Given the description of an element on the screen output the (x, y) to click on. 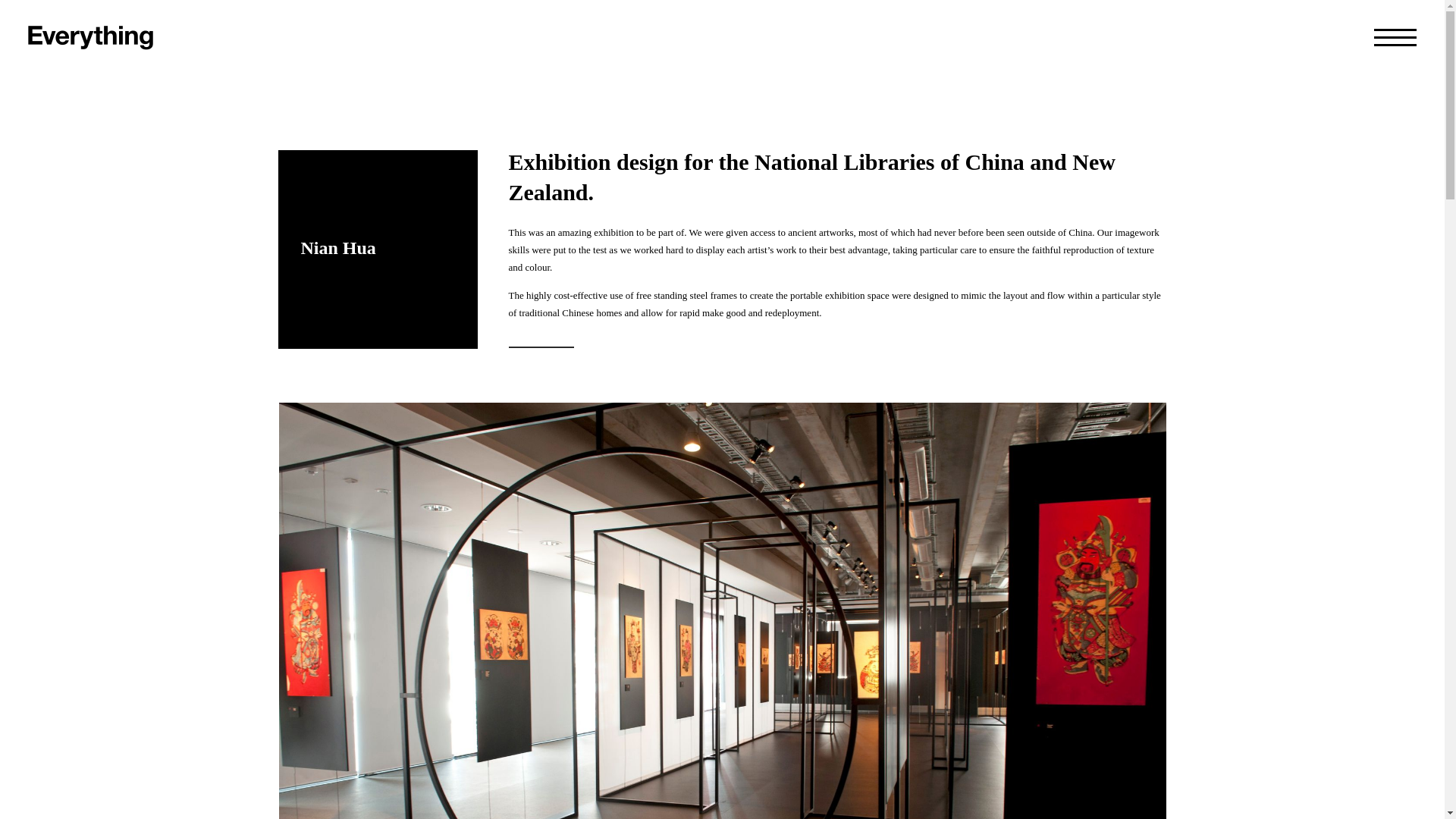
Primary Menu (1395, 37)
